Given the description of an element on the screen output the (x, y) to click on. 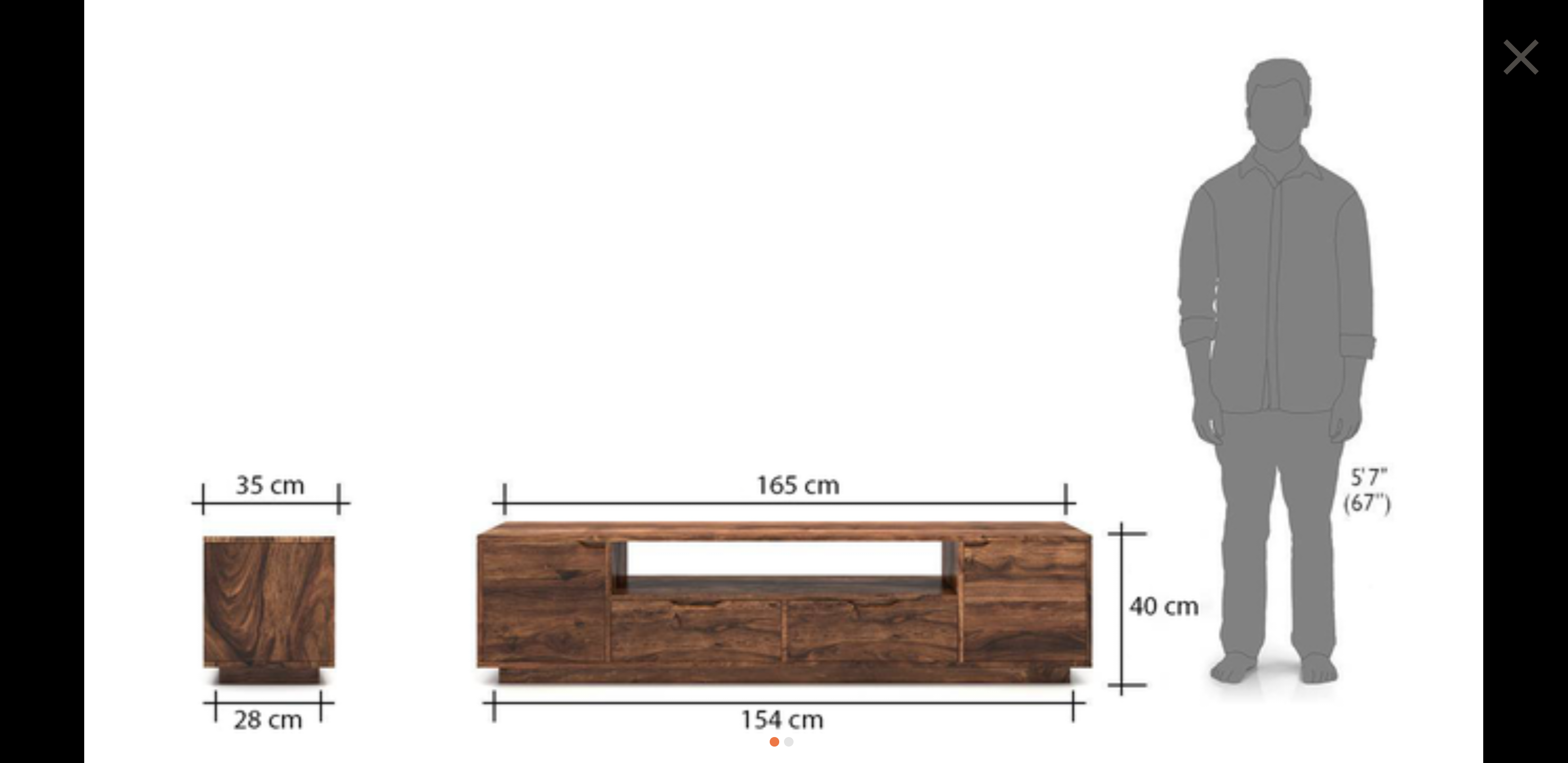
 (1520, 55)
